Given the description of an element on the screen output the (x, y) to click on. 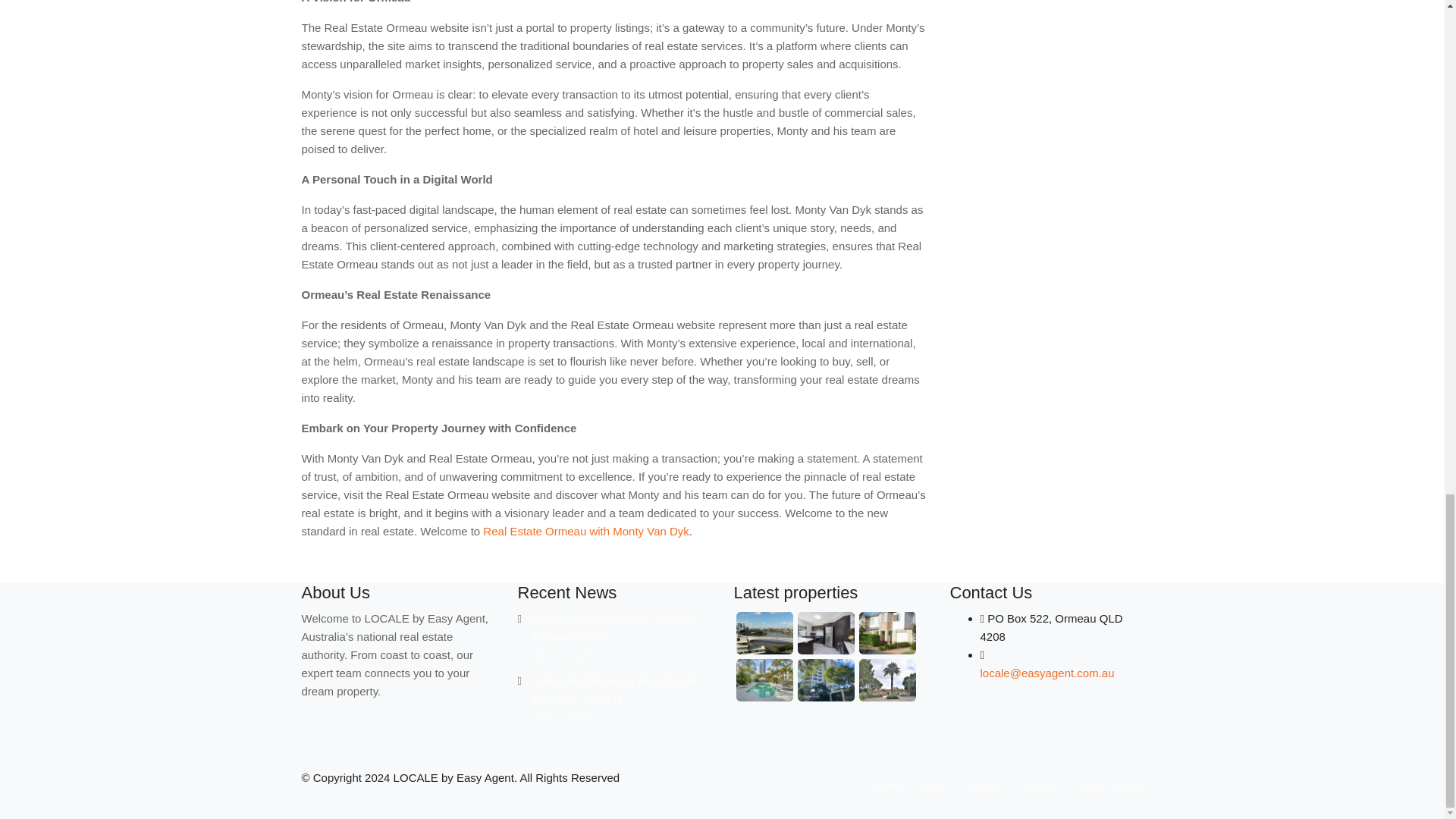
Real Estate Ormeau with Monty Van Dyk (585, 530)
Unlocking the Potential: Property Renovations in... (614, 626)
Unlocking Ormeau's Real Estate Potential: Insights... (613, 689)
